Given the description of an element on the screen output the (x, y) to click on. 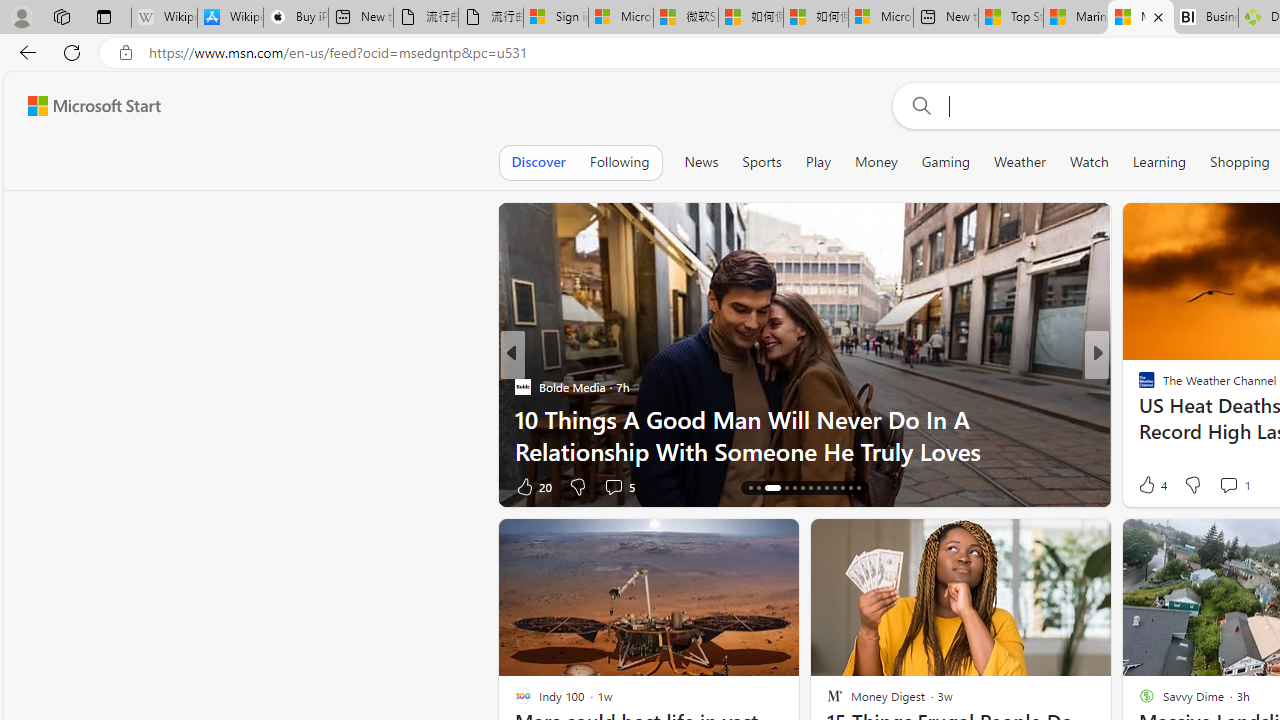
View comments 53 Comment (1234, 485)
5k Like (532, 486)
View comments 11 Comment (1244, 486)
The Cool Down (1138, 386)
AutomationID: tab-16 (765, 487)
Wikipedia - Sleeping (164, 17)
PC World (1138, 386)
115 Like (1151, 486)
4 Like (1151, 484)
ChaChingQueen (1138, 386)
Watch (1089, 162)
Marine life - MSN (1076, 17)
